Given the description of an element on the screen output the (x, y) to click on. 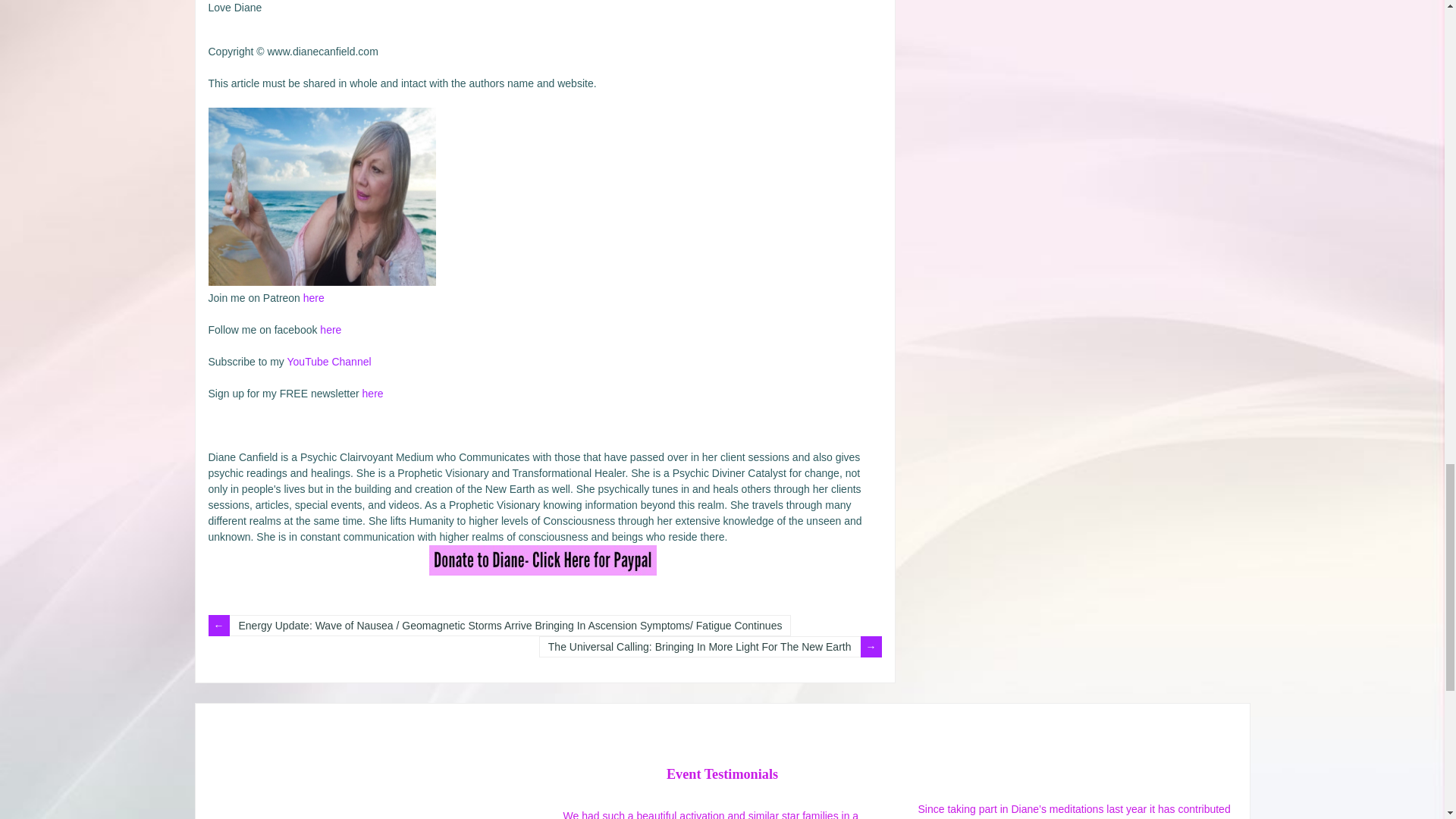
here (373, 393)
YouTube Channel (328, 361)
here (330, 329)
here (313, 297)
